Given the description of an element on the screen output the (x, y) to click on. 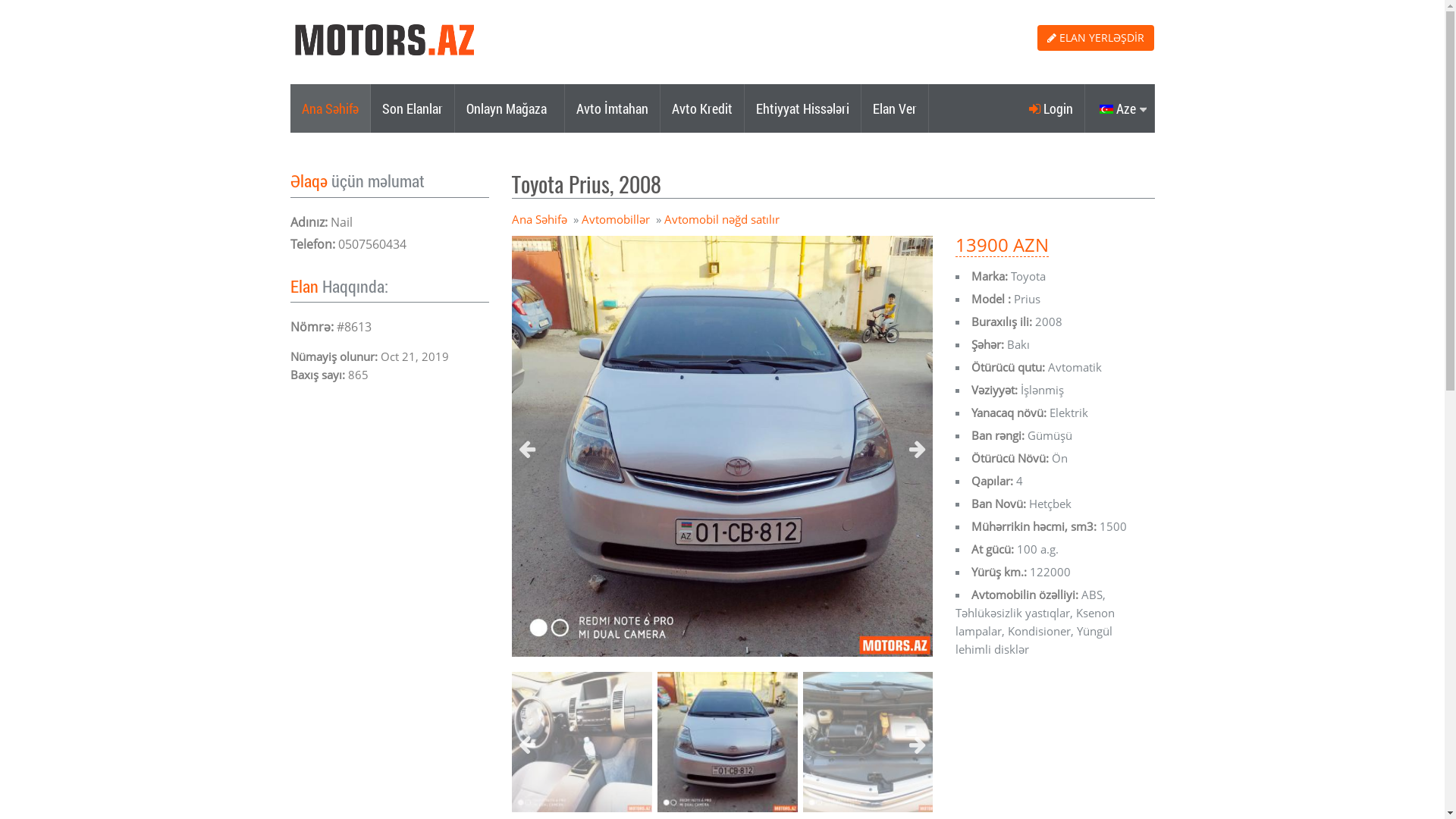
previous Element type: text (526, 450)
next Element type: text (917, 745)
Avto Kredit Element type: text (701, 108)
  Aze Element type: text (1119, 108)
Son Elanlar Element type: text (412, 108)
Login Element type: text (1051, 108)
next Element type: text (917, 450)
previous Element type: text (526, 745)
Elan Ver Element type: text (894, 108)
